Given the description of an element on the screen output the (x, y) to click on. 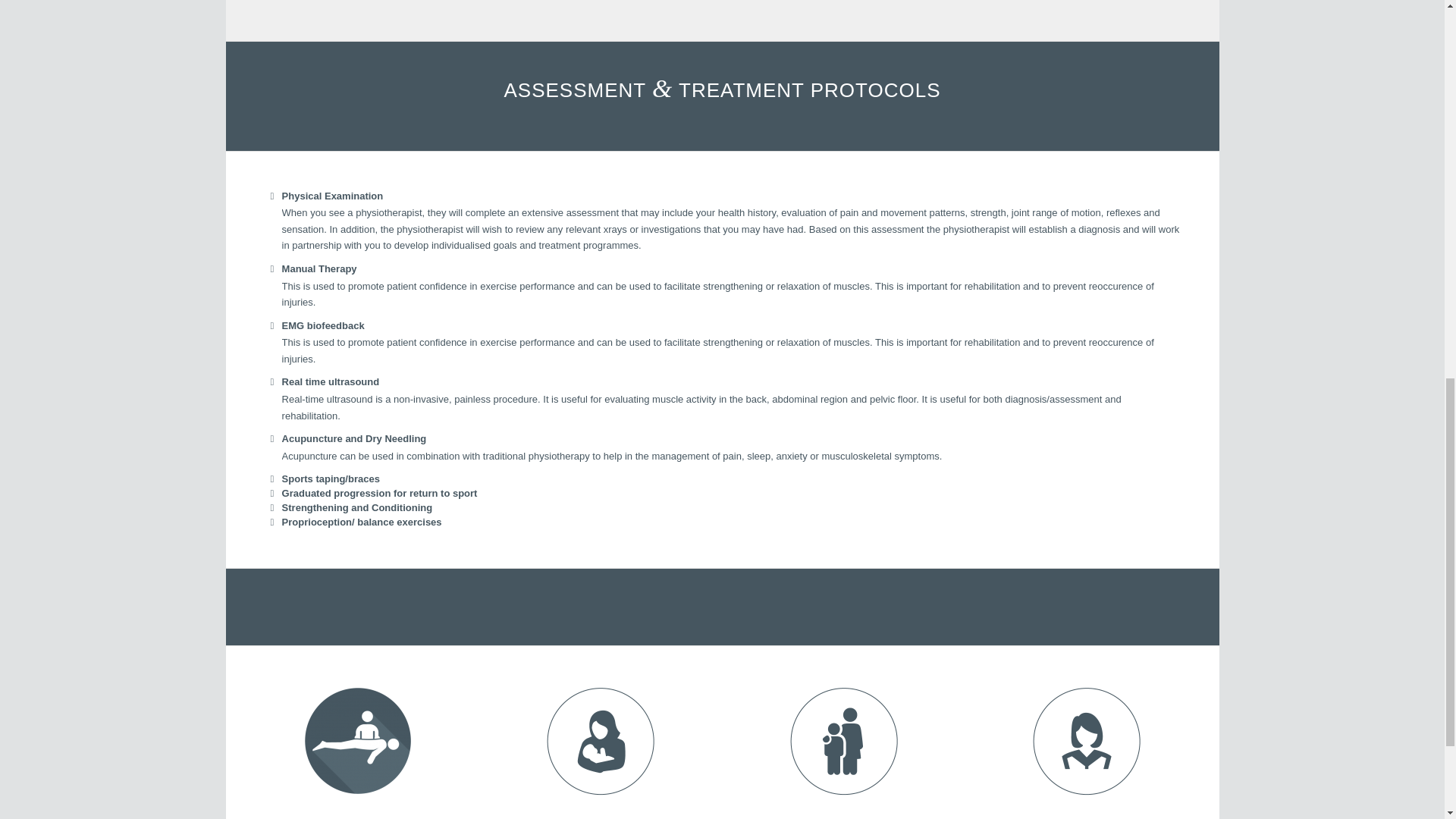
Better Health Practice Physiotheraphy (357, 740)
antenatal-postnatal-icon (600, 740)
childrens-icon (844, 740)
